Given the description of an element on the screen output the (x, y) to click on. 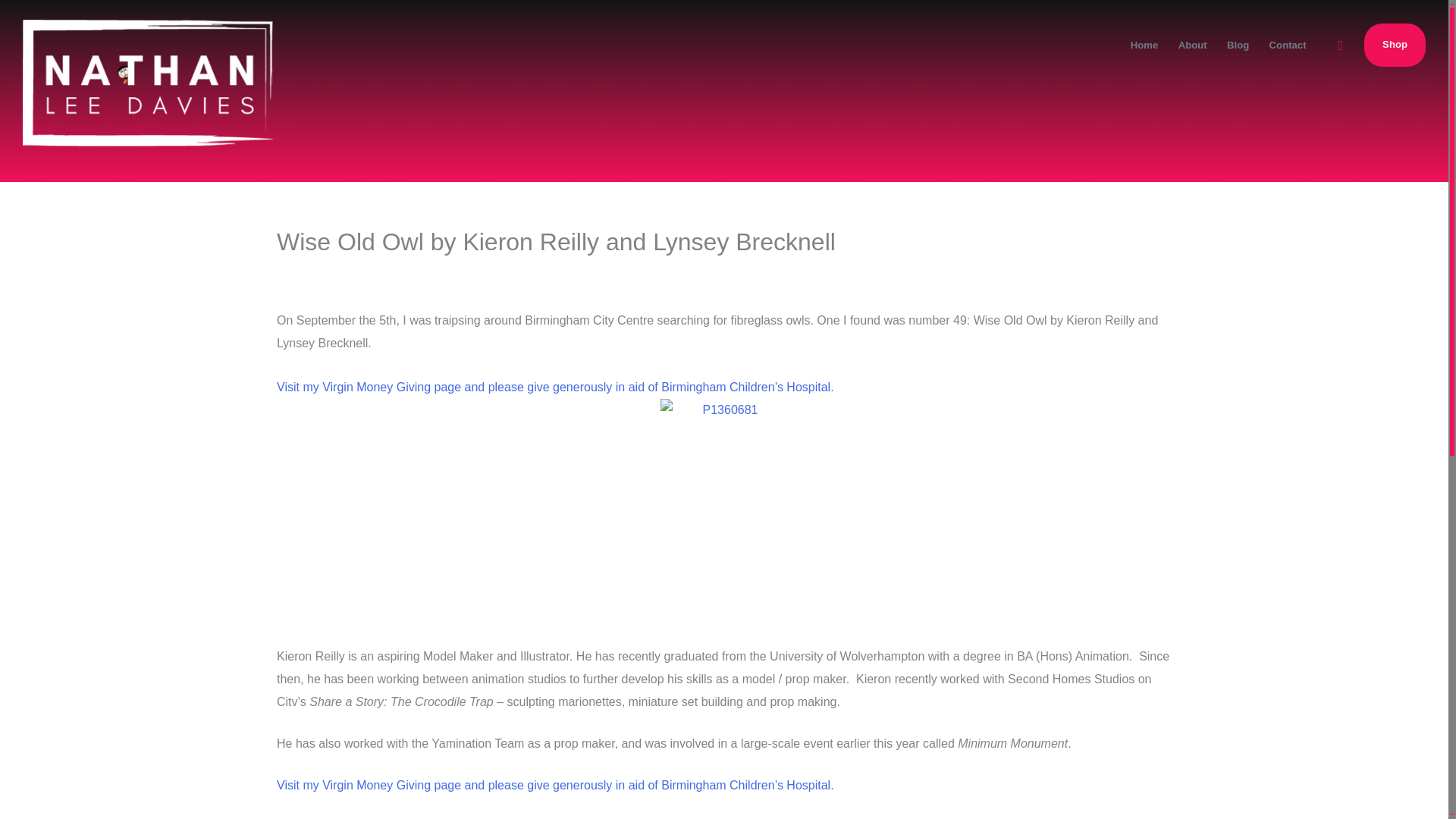
Shop (1394, 44)
Contact (1287, 44)
About (1191, 44)
Home (1145, 44)
